Given the description of an element on the screen output the (x, y) to click on. 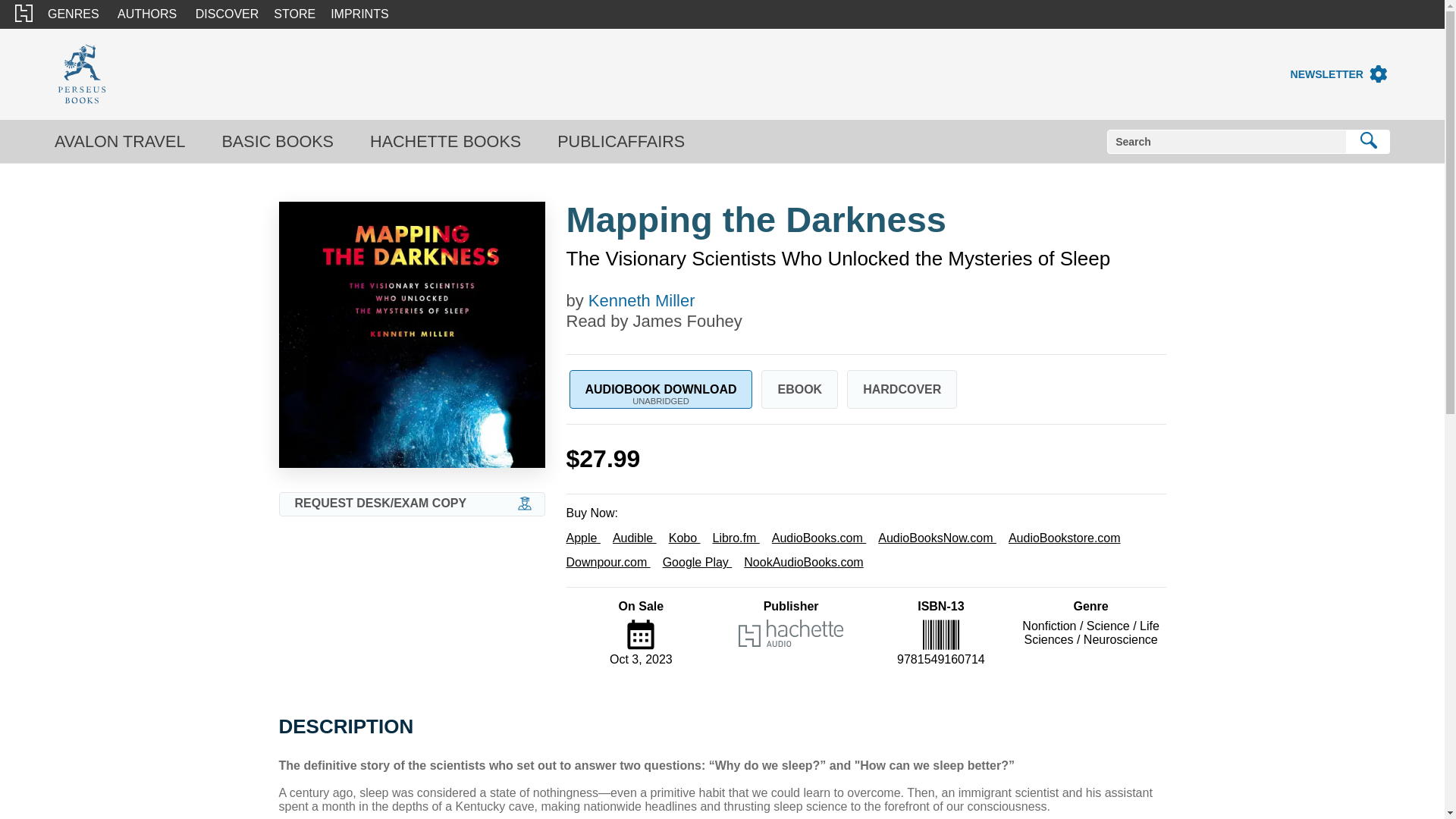
HACHETTE BOOKS (445, 140)
ebook (799, 389)
PUBLICAFFAIRS (620, 140)
AVALON TRAVEL (119, 140)
BASIC BOOKS (277, 140)
IMPRINTS (359, 13)
Hardcover (901, 389)
DISCOVER (227, 13)
ACADEMIC ICON ACADEMIC ICON (524, 503)
Hachette Logo Hachette Logo (23, 13)
AUTHORS (146, 13)
GENRES (73, 13)
STORE (294, 13)
NEWSLETTER (1326, 73)
